Given the description of an element on the screen output the (x, y) to click on. 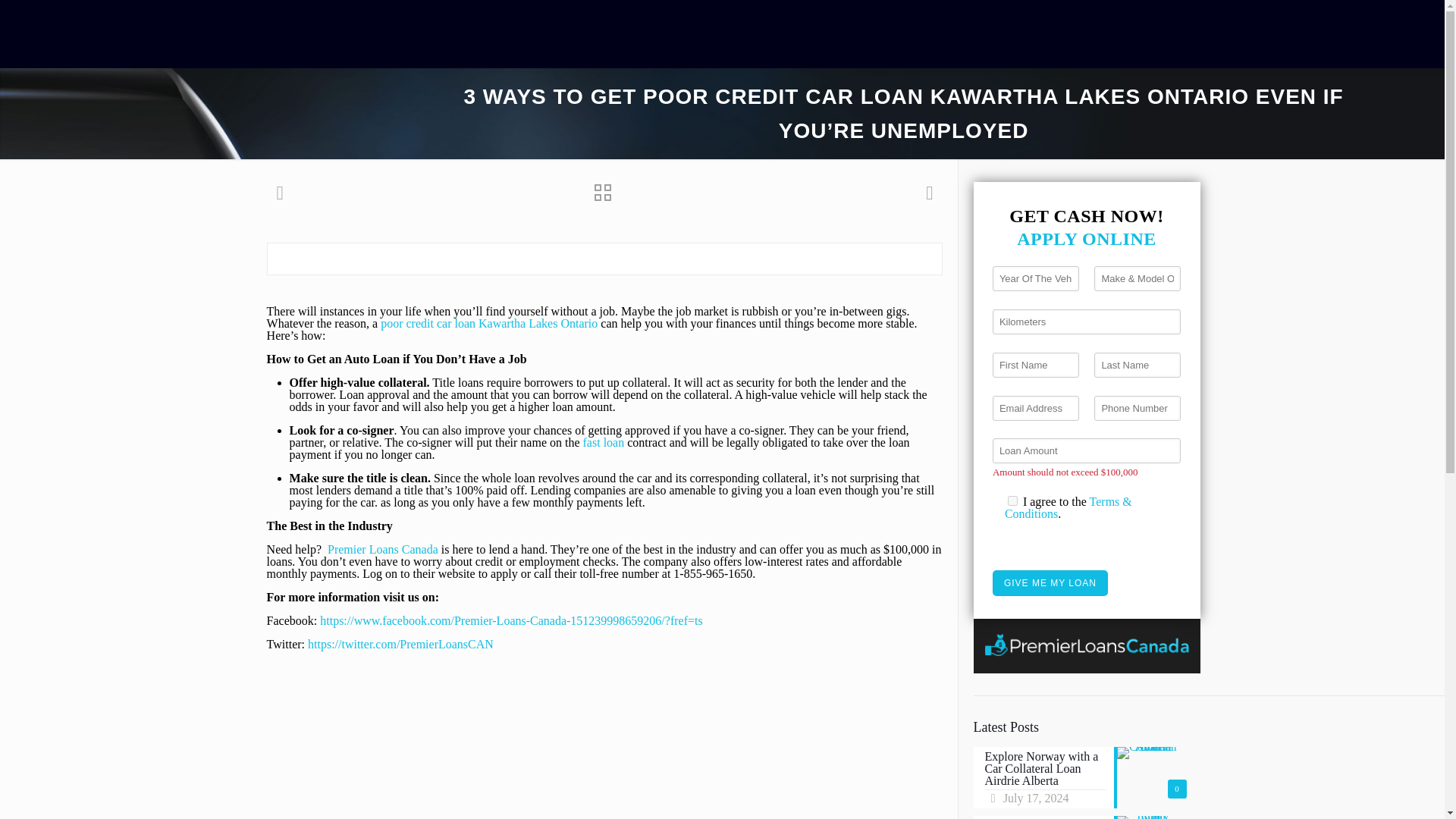
fast loan (603, 441)
GIVE ME MY LOAN (1050, 583)
GIVE ME MY LOAN (1050, 583)
Premier Loans Canada (382, 549)
poor credit car loan Kawartha Lakes Ontario (488, 323)
1 (1012, 501)
